Given the description of an element on the screen output the (x, y) to click on. 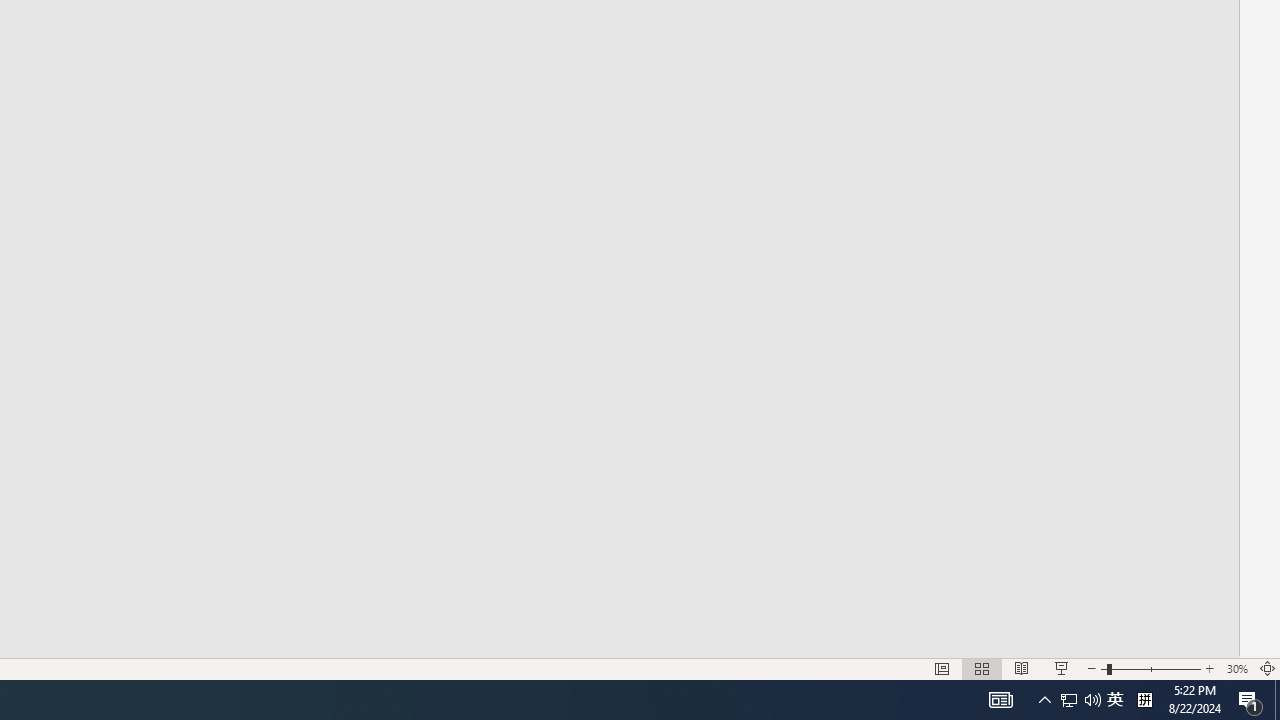
Zoom 30% (1236, 668)
